Given the description of an element on the screen output the (x, y) to click on. 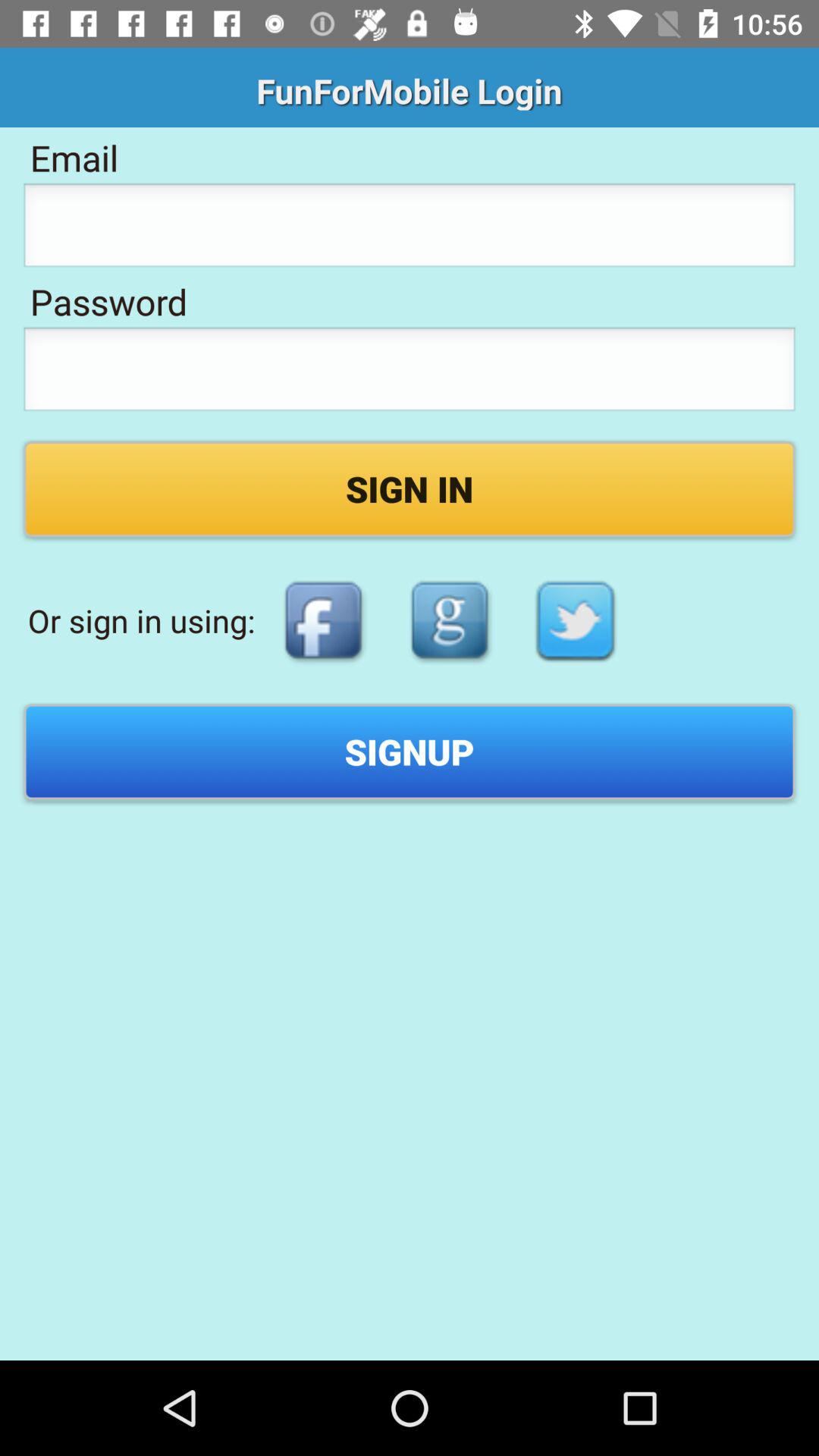
type password (409, 373)
